Given the description of an element on the screen output the (x, y) to click on. 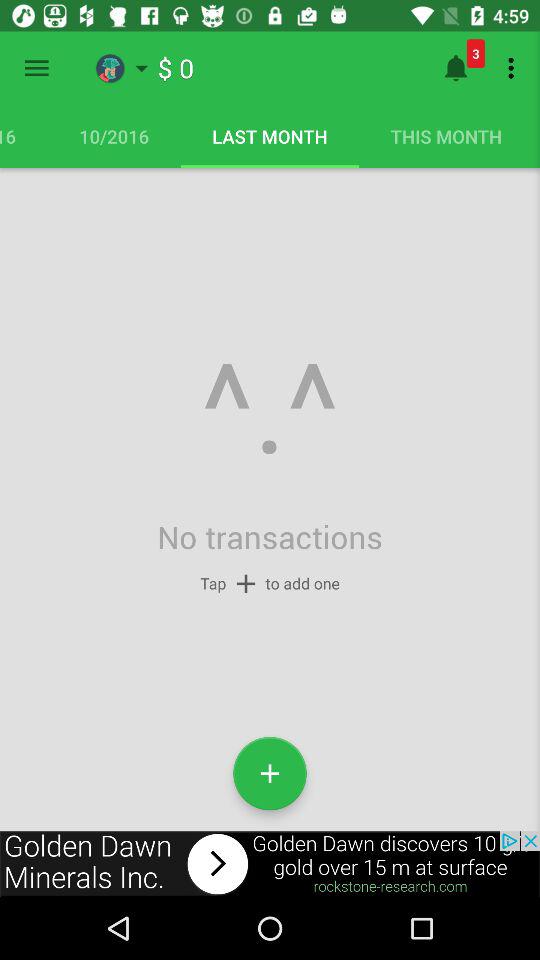
open menu (36, 68)
